Given the description of an element on the screen output the (x, y) to click on. 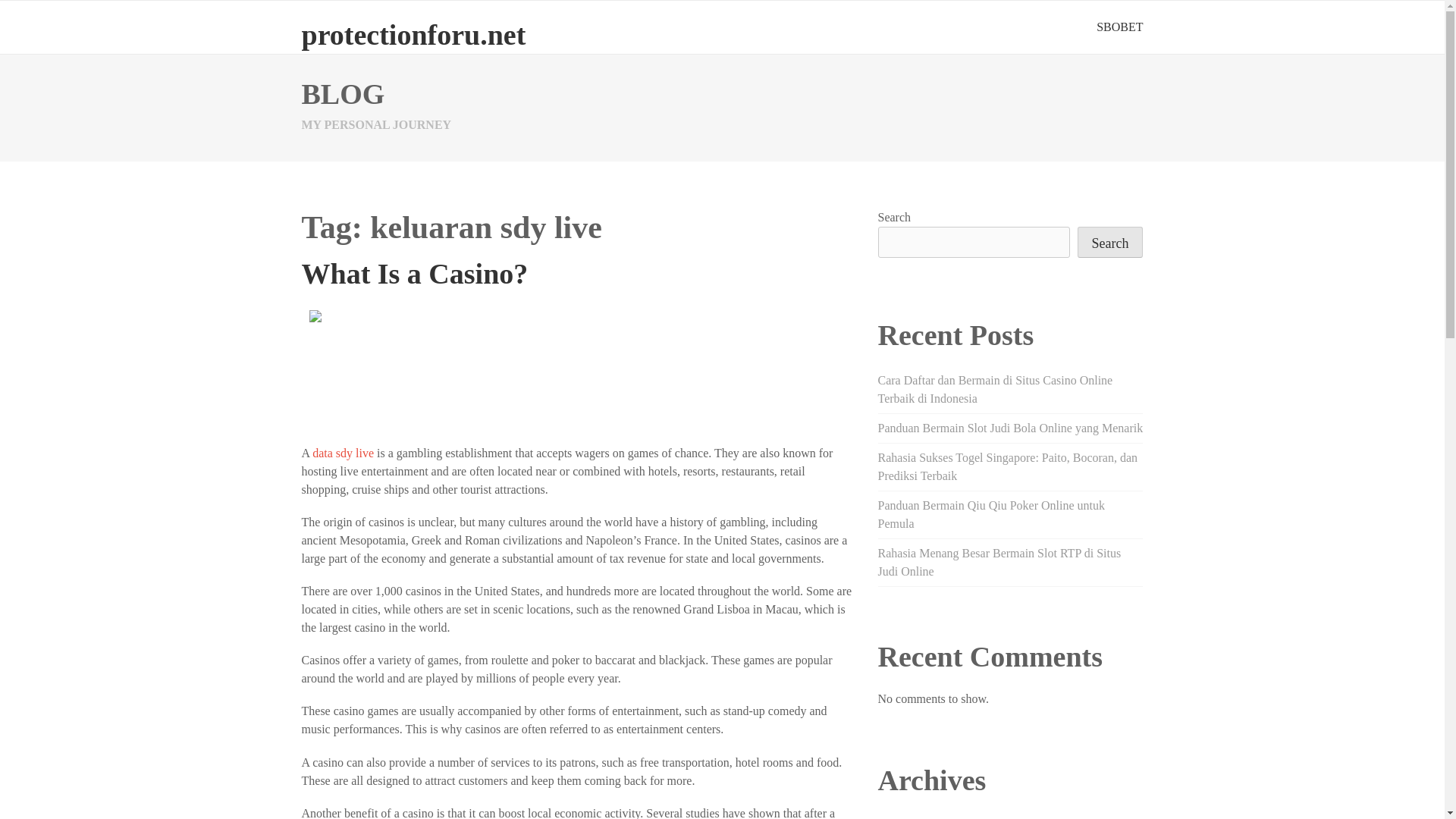
Panduan Bermain Qiu Qiu Poker Online untuk Pemula (991, 513)
What Is a Casino? (414, 273)
data sdy live (343, 452)
SBOBET (1119, 27)
Panduan Bermain Slot Judi Bola Online yang Menarik (1009, 427)
protectionforu.net (413, 34)
Search (1109, 241)
Rahasia Menang Besar Bermain Slot RTP di Situs Judi Online (999, 562)
